Given the description of an element on the screen output the (x, y) to click on. 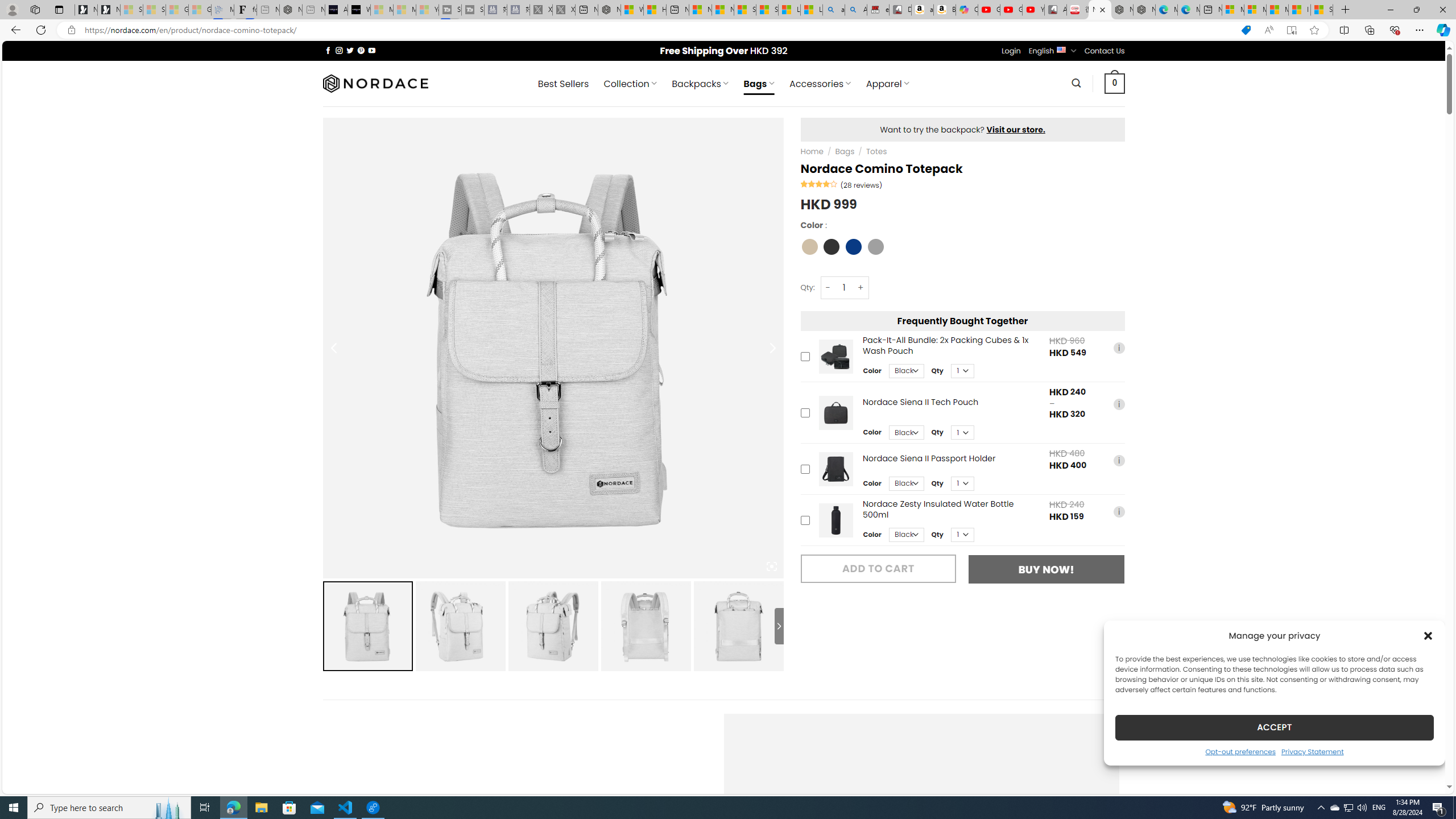
Nordace - My Account (609, 9)
Follow on Pinterest (360, 49)
X - Sleeping (563, 9)
Microsoft Start (1276, 9)
All Cubot phones (1055, 9)
BUY NOW! (1046, 569)
Nordace - Nordace has arrived Hong Kong (1144, 9)
YouTube Kids - An App Created for Kids to Explore Content (1033, 9)
